Given the description of an element on the screen output the (x, y) to click on. 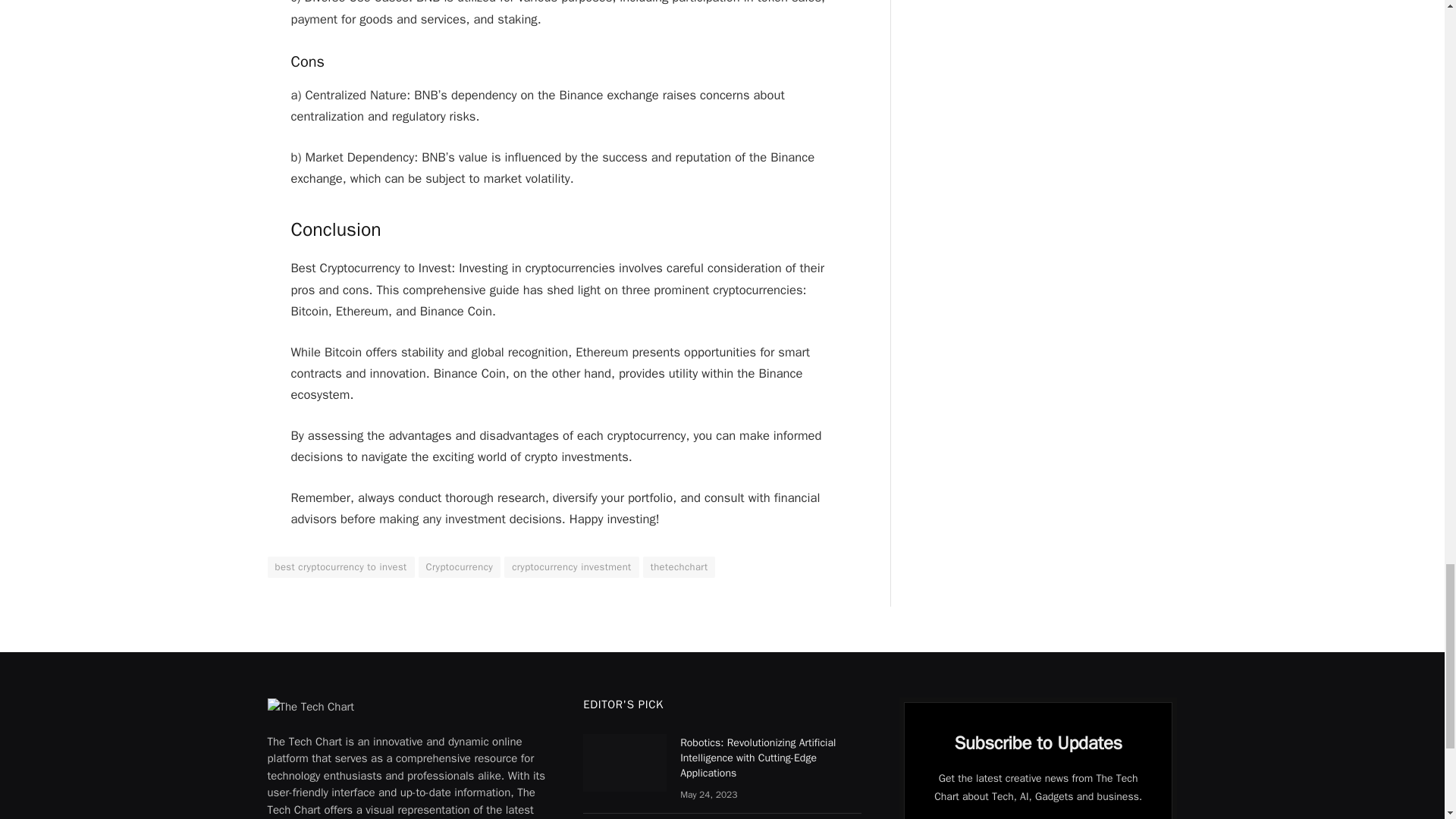
cryptocurrency investment (571, 567)
best cryptocurrency to invest (339, 567)
thetechchart (679, 567)
Cryptocurrency (459, 567)
